Given the description of an element on the screen output the (x, y) to click on. 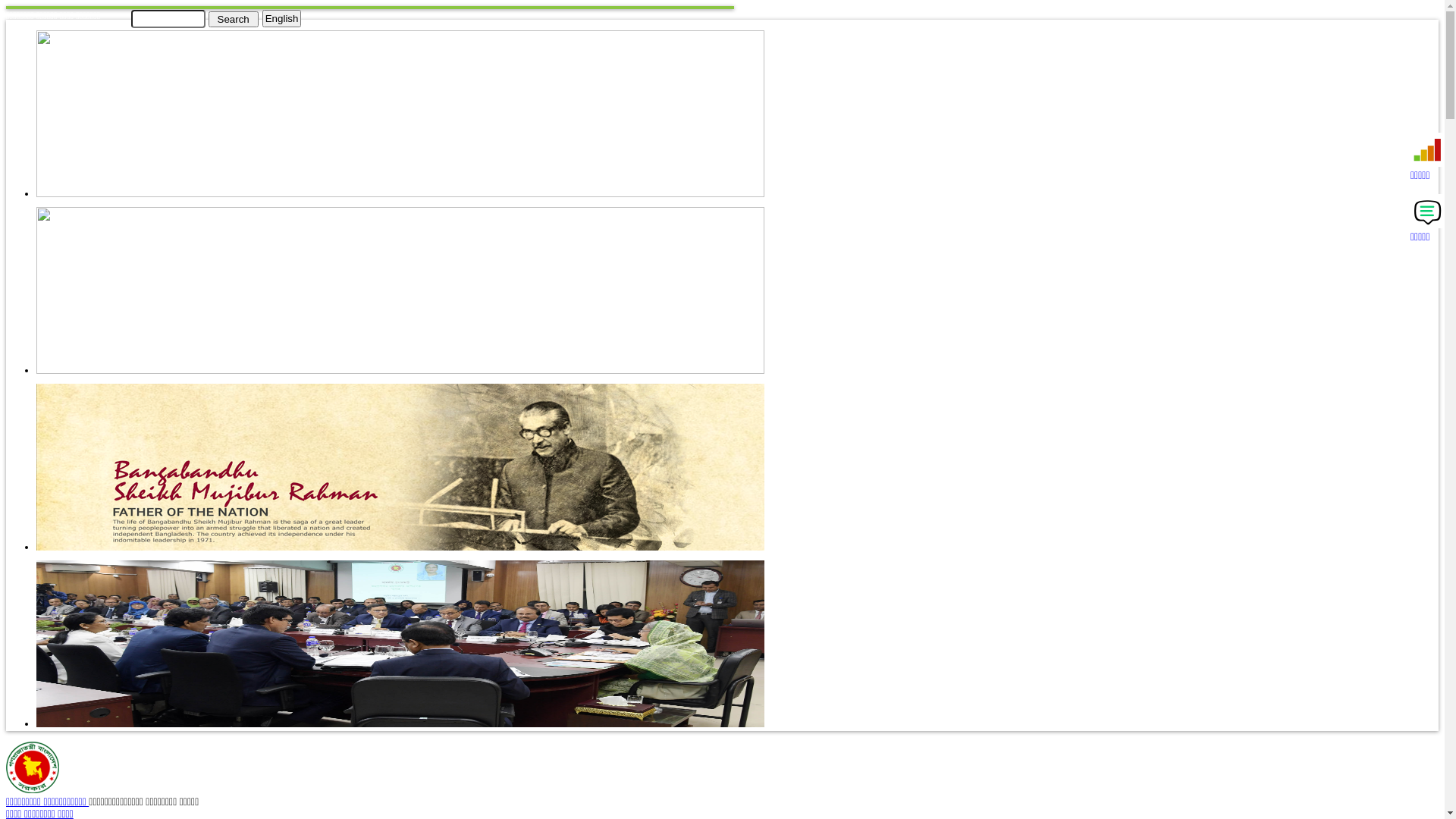
Home Element type: hover (32, 789)
English Element type: text (281, 18)
Search Element type: text (232, 18)
